Given the description of an element on the screen output the (x, y) to click on. 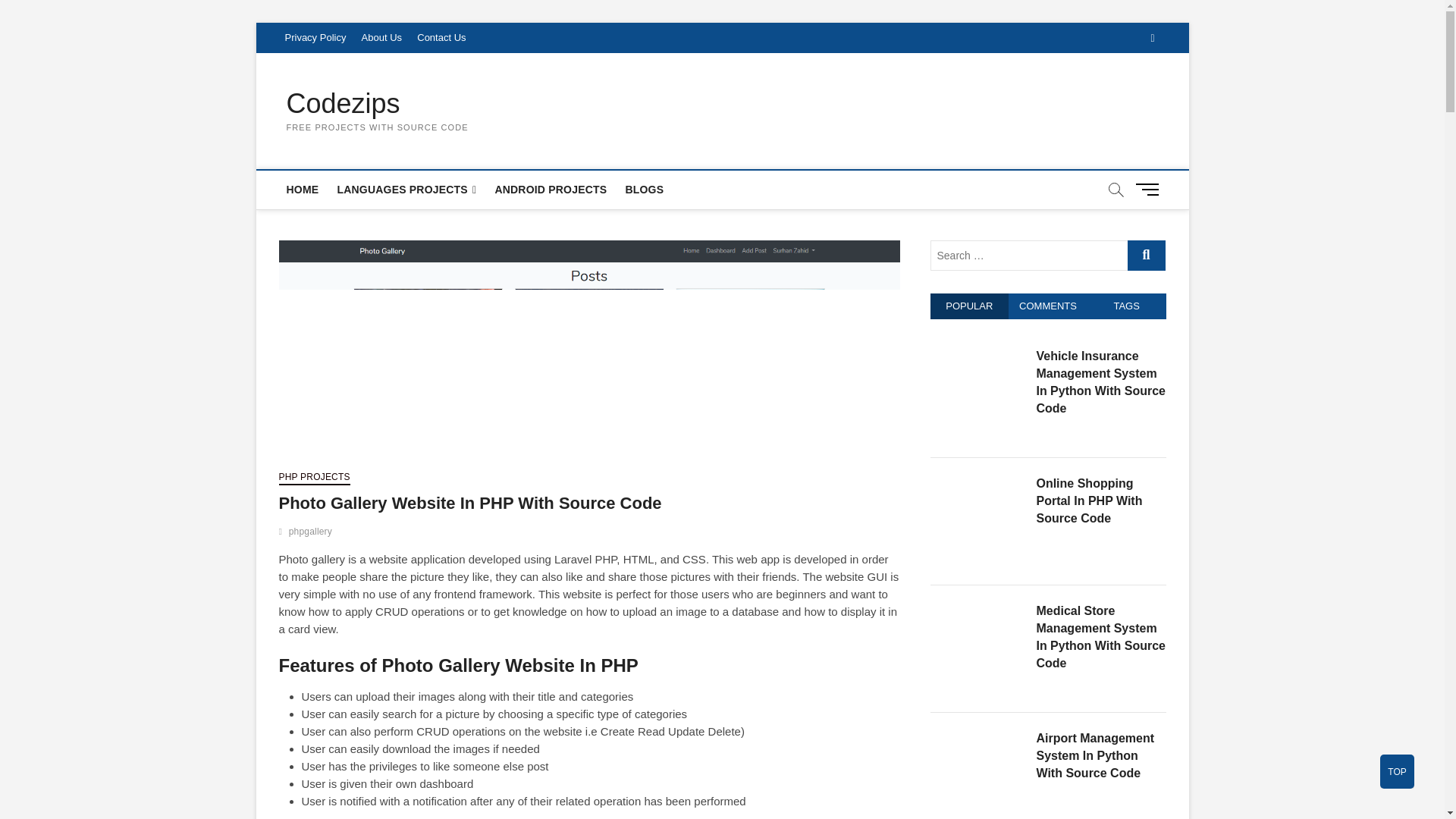
instagram (1152, 38)
Online Shopping Portal In PHP With Source Code (977, 481)
Medical Store Management System In Python With Source Code (977, 609)
About Us (381, 37)
ANDROID PROJECTS (550, 189)
POPULAR (969, 306)
Privacy Policy (315, 37)
HOME (302, 189)
COMMENTS (1048, 306)
phpgallery (312, 533)
